Given the description of an element on the screen output the (x, y) to click on. 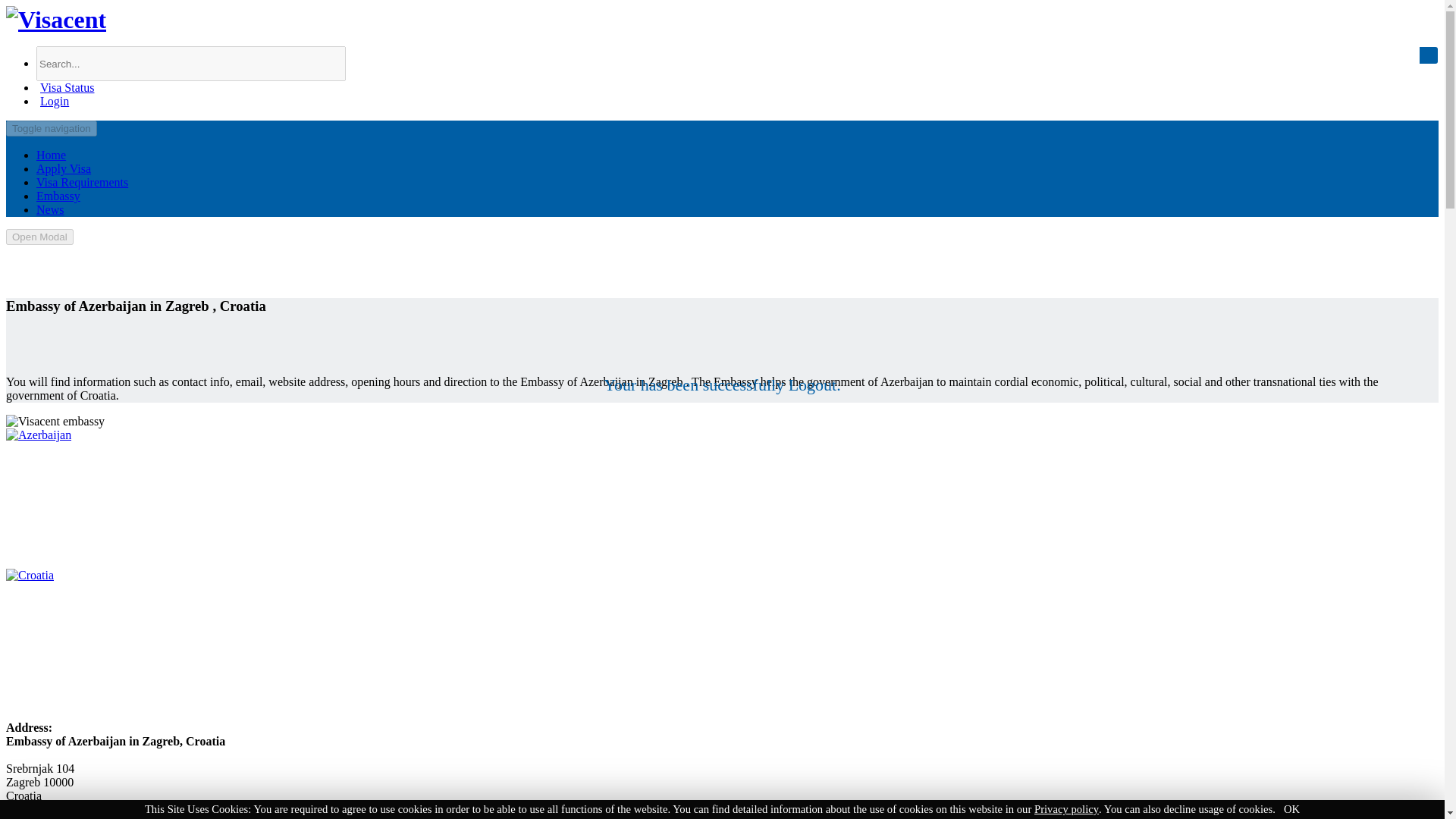
Apply Visa (63, 168)
Login (52, 101)
Visa Status (65, 87)
Visa Status (65, 87)
Open Modal (39, 236)
Embassy (58, 195)
News (50, 209)
Embassy and Consulate of Azerbaijan (38, 434)
Home (50, 154)
Visa Requirements (82, 182)
Login (52, 101)
News (50, 209)
Toggle navigation (51, 128)
Home (50, 154)
Embassy and Consulate of Croatia (29, 574)
